Given the description of an element on the screen output the (x, y) to click on. 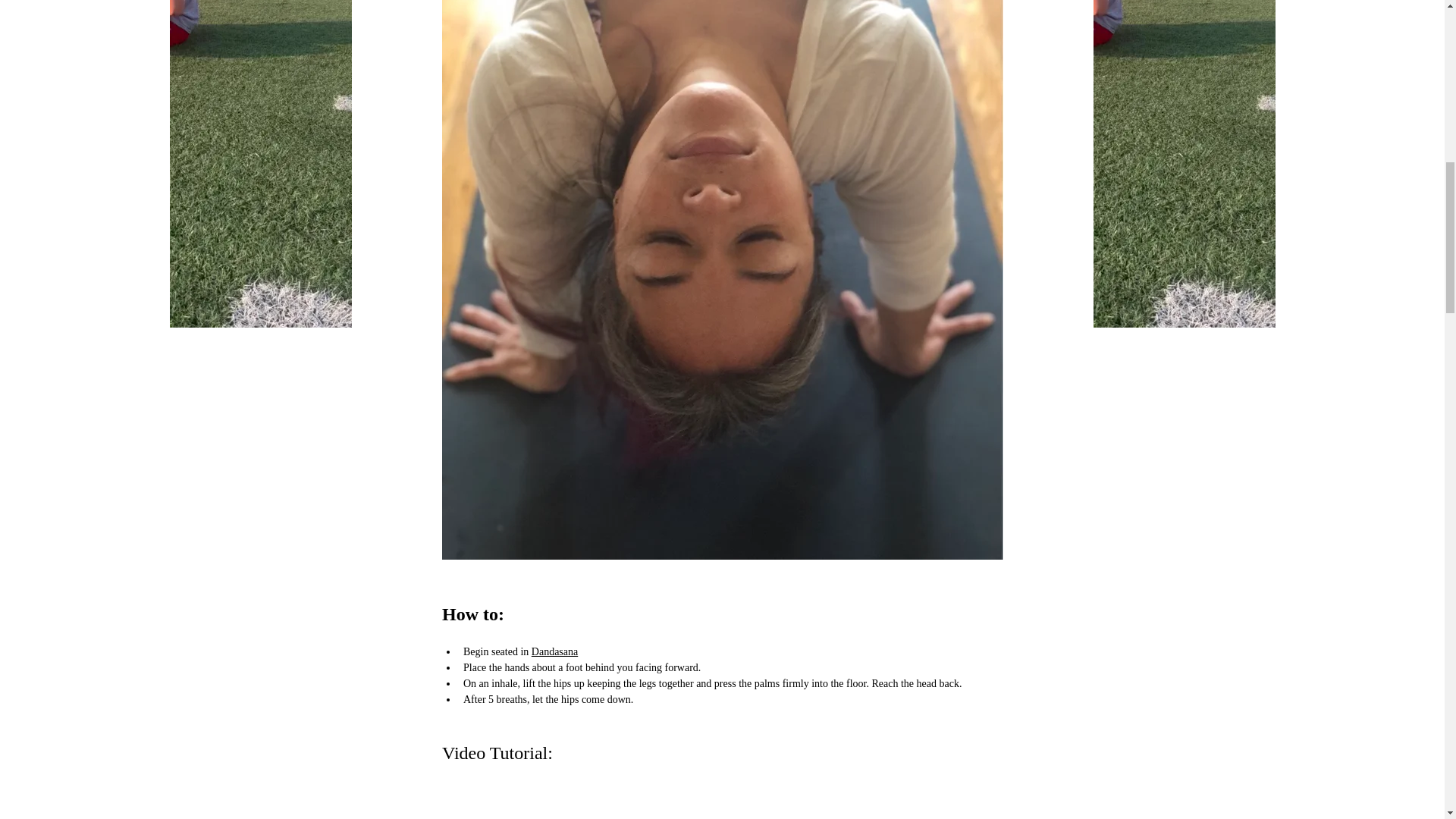
ricos-video (722, 801)
